Given the description of an element on the screen output the (x, y) to click on. 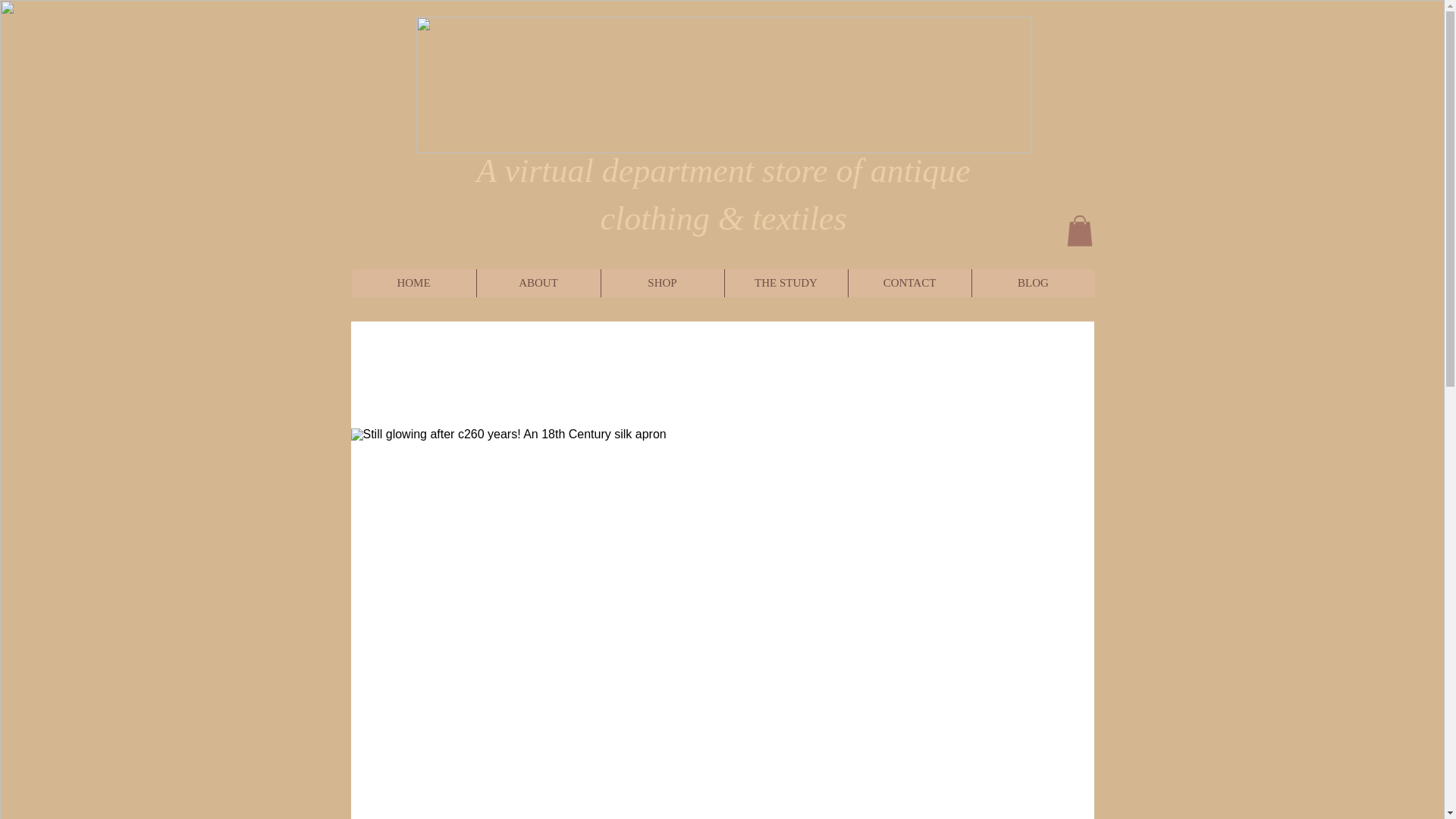
CONTACT (909, 283)
ABOUT (537, 283)
THE STUDY (785, 283)
HOME (414, 283)
BLOG (1032, 283)
SHOP (661, 283)
logo.png (722, 84)
